Given the description of an element on the screen output the (x, y) to click on. 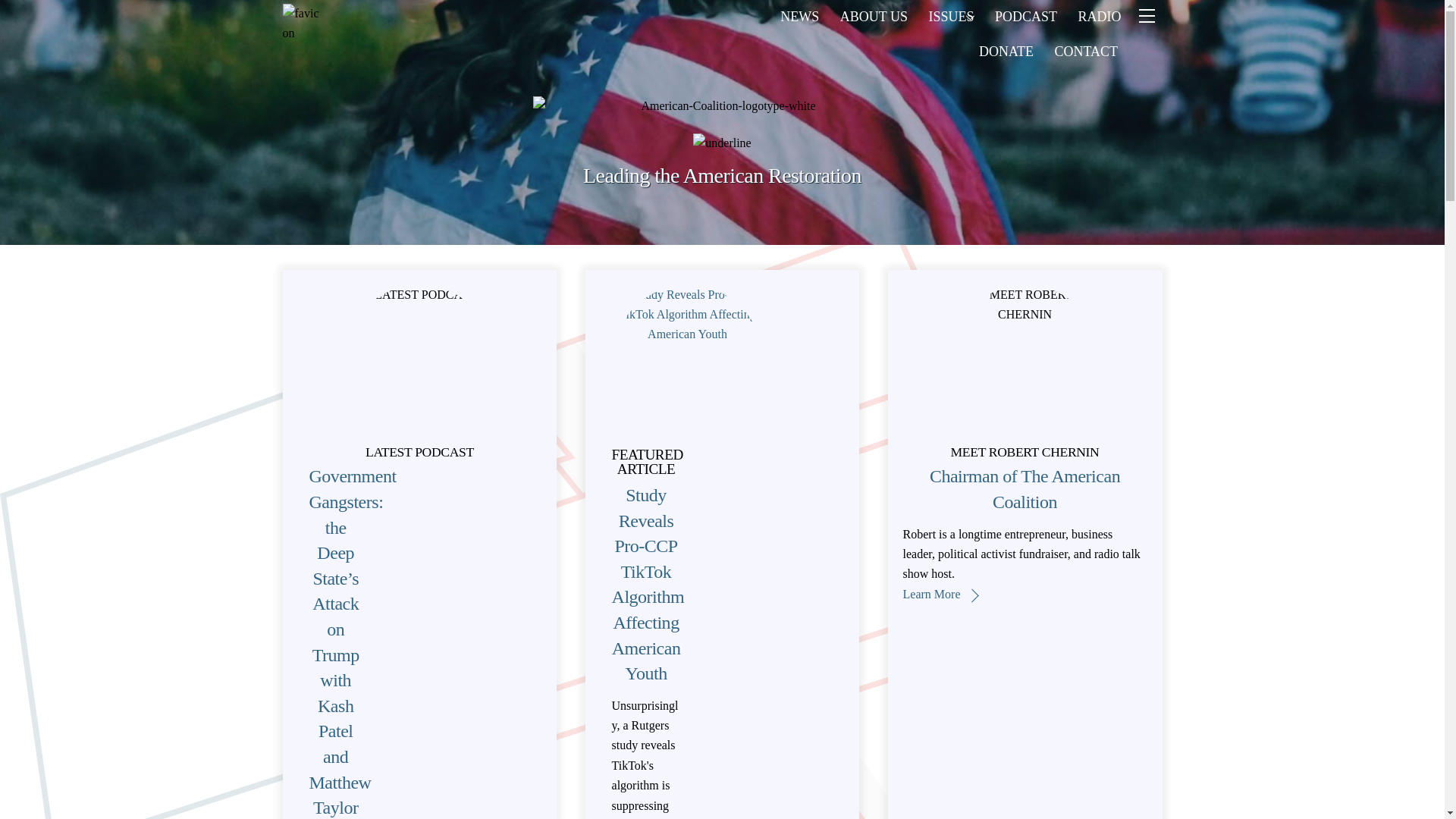
Menu (1144, 16)
favicon (301, 21)
ISSUES (951, 17)
TikTokChina (686, 360)
ABOUT US (873, 17)
CONTACT (1086, 52)
RADIO (1099, 17)
DONATE (1005, 52)
PODCAST (1025, 17)
Robert-B-Chernin (1024, 360)
